Given the description of an element on the screen output the (x, y) to click on. 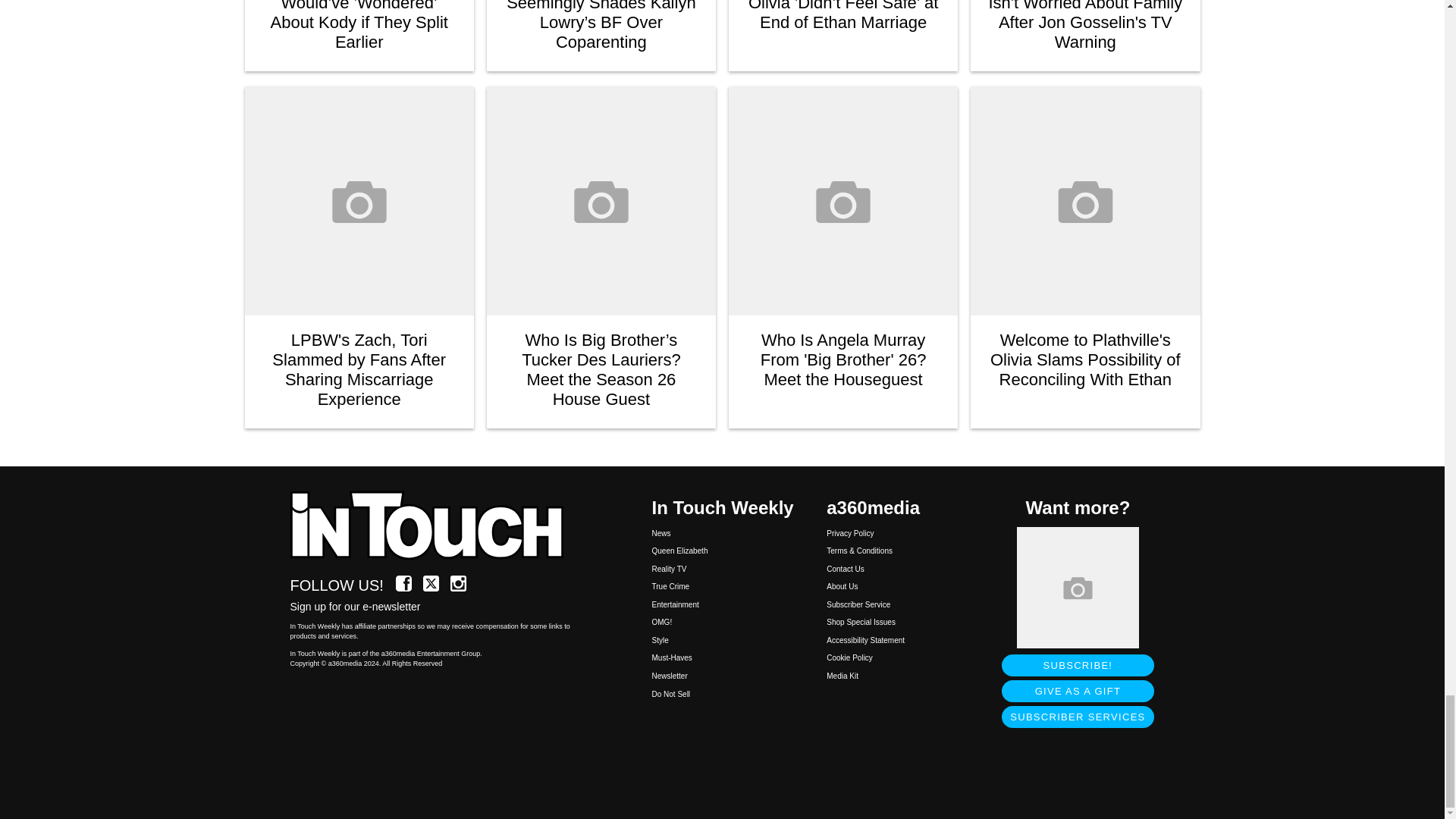
Home (434, 526)
